Given the description of an element on the screen output the (x, y) to click on. 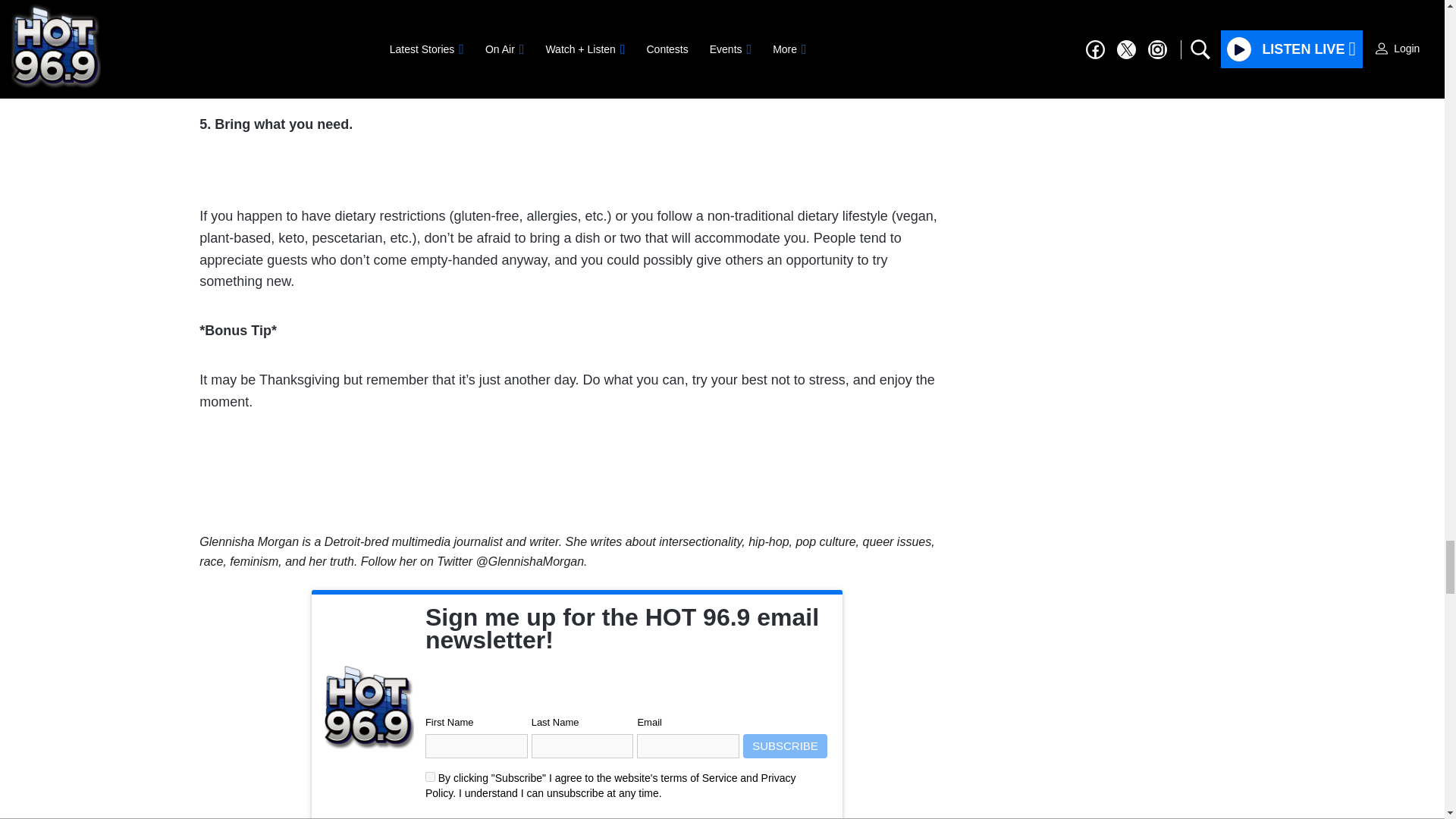
on (430, 777)
